Given the description of an element on the screen output the (x, y) to click on. 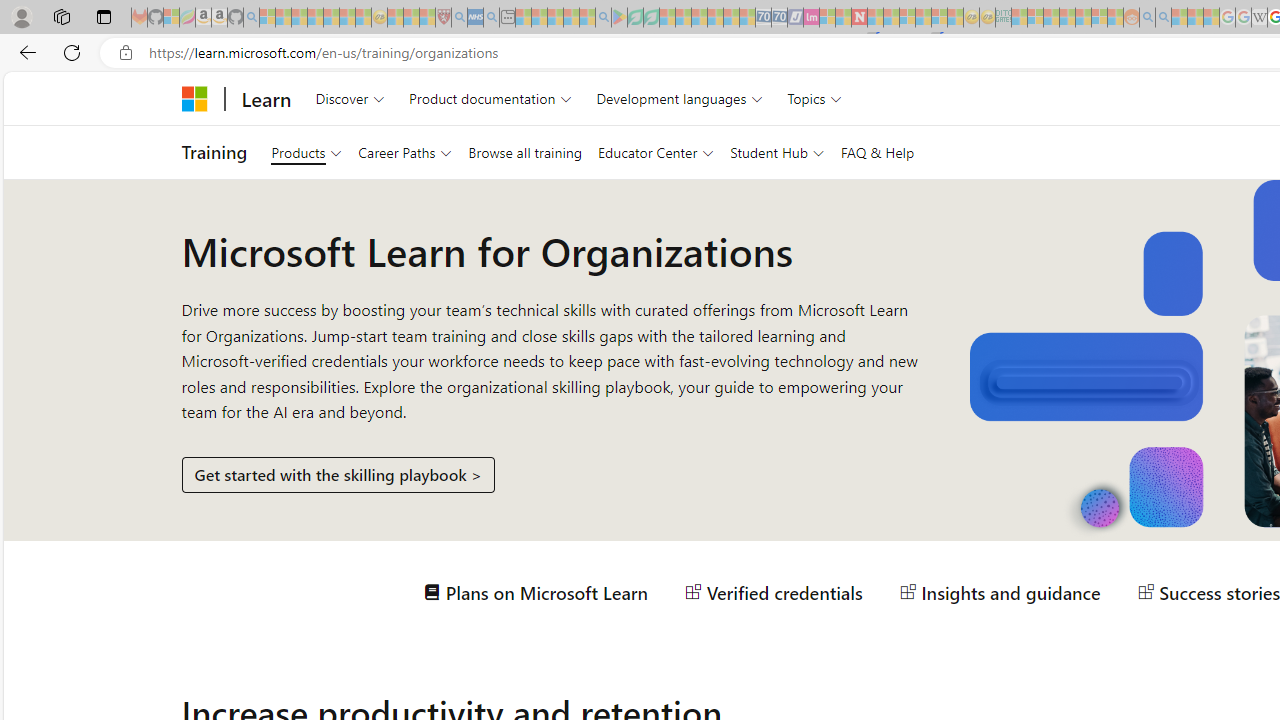
Product documentation (490, 98)
Target page - Wikipedia - Sleeping (1259, 17)
Kinda Frugal - MSN - Sleeping (1083, 17)
Insights and guidance (1000, 592)
Robert H. Shmerling, MD - Harvard Health - Sleeping (443, 17)
utah sues federal government - Search - Sleeping (491, 17)
Skip to main content (18, 86)
Career Paths (404, 152)
FAQ & Help (877, 152)
Pets - MSN - Sleeping (571, 17)
